Given the description of an element on the screen output the (x, y) to click on. 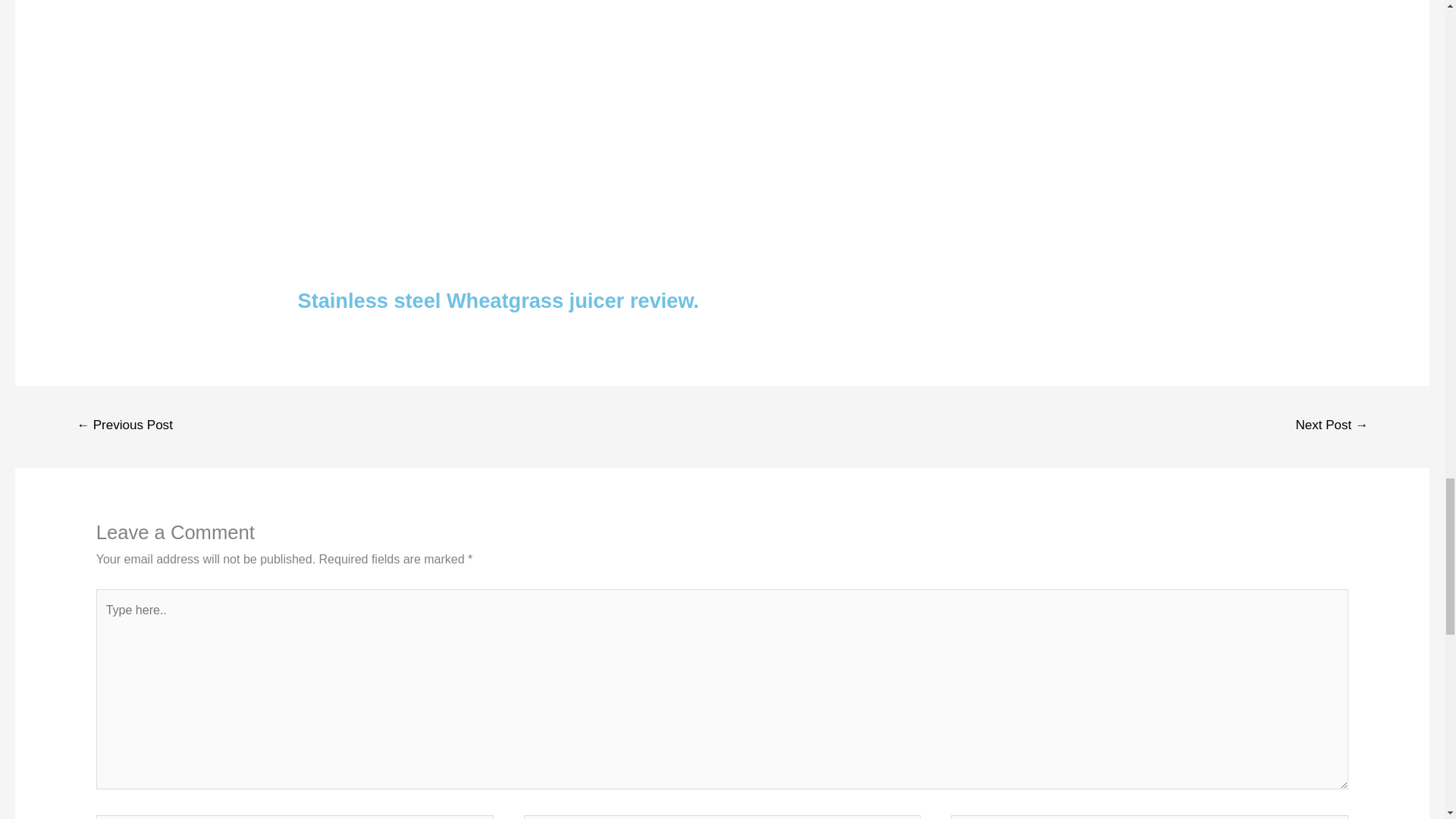
Stainless steel Wheatgrass juicer review. (497, 300)
